Given the description of an element on the screen output the (x, y) to click on. 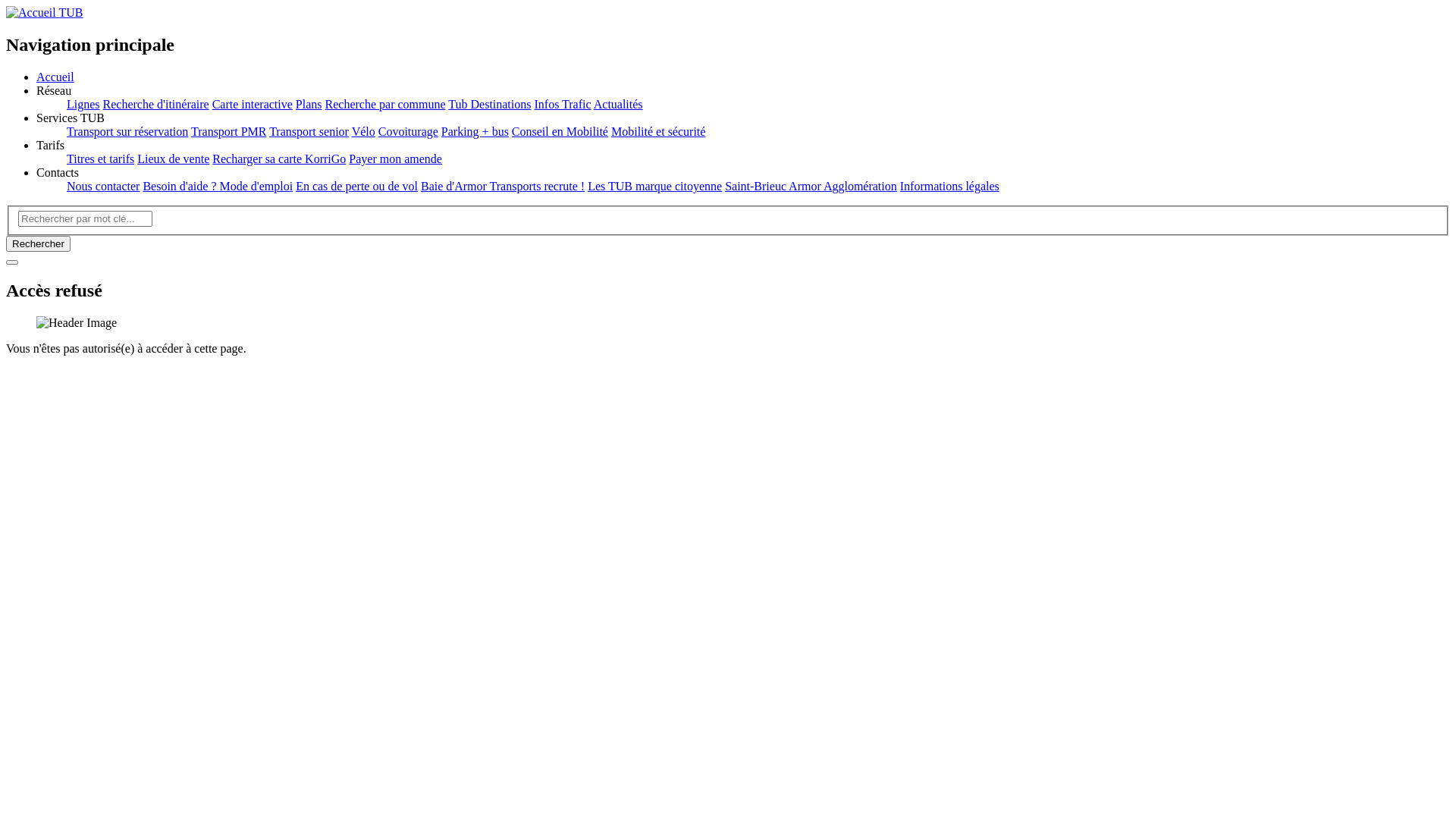
Les TUB marque citoyenne Element type: text (654, 185)
Nous contacter Element type: text (102, 185)
Titres et tarifs Element type: text (100, 158)
Aller au contenu principal Element type: text (6, 6)
Covoiturage Element type: text (408, 131)
Recharger sa carte KorriGo Element type: text (278, 158)
Baie d'Armor Transports recrute ! Element type: text (502, 185)
TUB Element type: text (44, 12)
Transport PMR Element type: text (228, 131)
En cas de perte ou de vol Element type: text (356, 185)
Lieux de vente Element type: text (173, 158)
Transport senior Element type: text (308, 131)
Plans Element type: text (308, 103)
Besoin d'aide ? Mode d'emploi Element type: text (217, 185)
Carte interactive Element type: text (252, 103)
Recherche par commune Element type: text (385, 103)
Accueil Element type: text (55, 76)
Tub Destinations Element type: text (489, 103)
Lignes Element type: text (83, 103)
Infos Trafic Element type: text (561, 103)
Payer mon amende Element type: text (395, 158)
Parking + bus Element type: text (474, 131)
Rechercher Element type: text (38, 243)
